Given the description of an element on the screen output the (x, y) to click on. 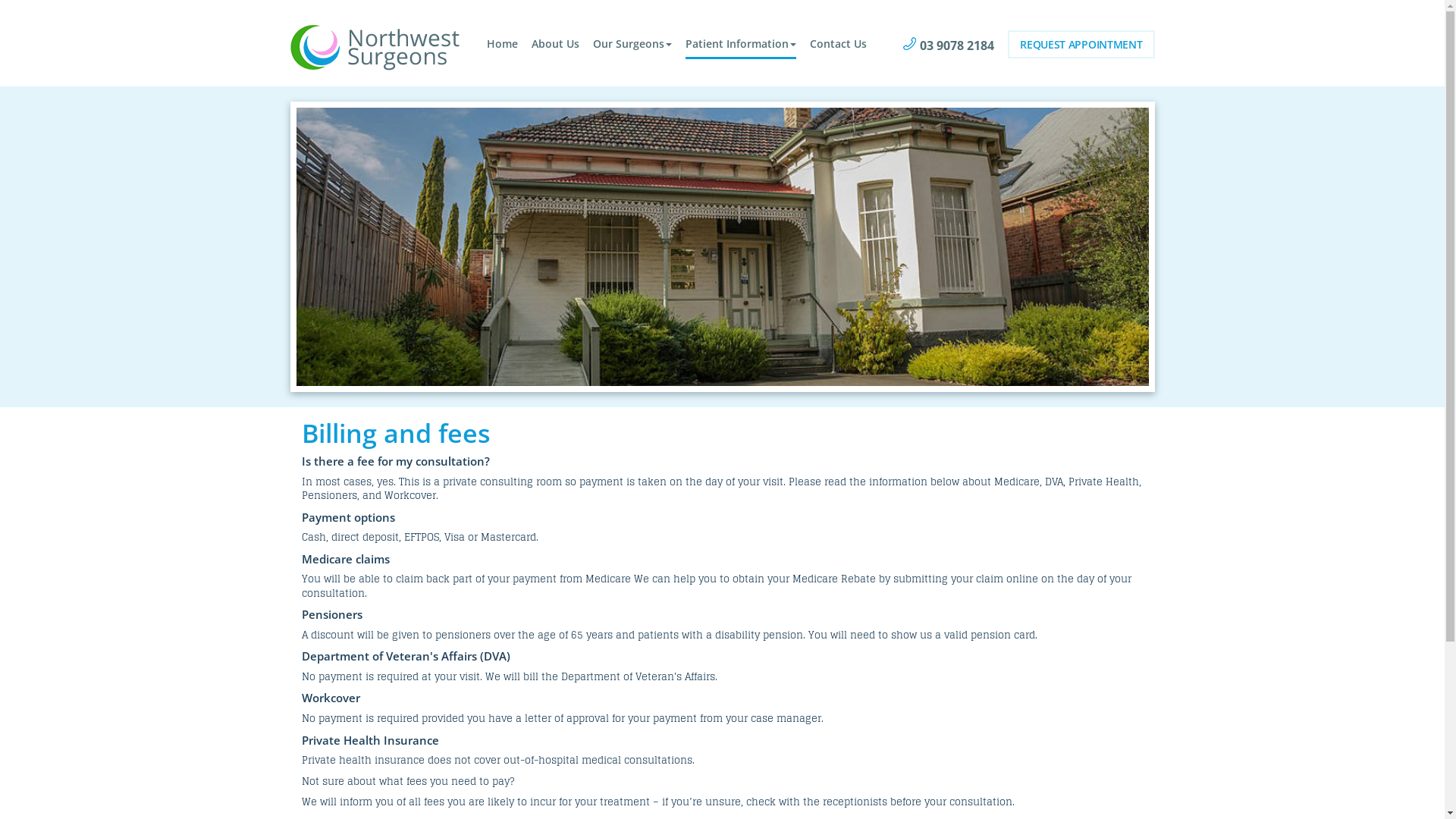
Our Surgeons Element type: text (632, 45)
About Us Element type: text (555, 45)
Home Element type: text (501, 45)
Contact Us Element type: text (837, 45)
Patient Information Element type: text (740, 45)
REQUEST APPOINTMENT Element type: text (1080, 44)
03 9078 2184 Element type: text (948, 45)
